Given the description of an element on the screen output the (x, y) to click on. 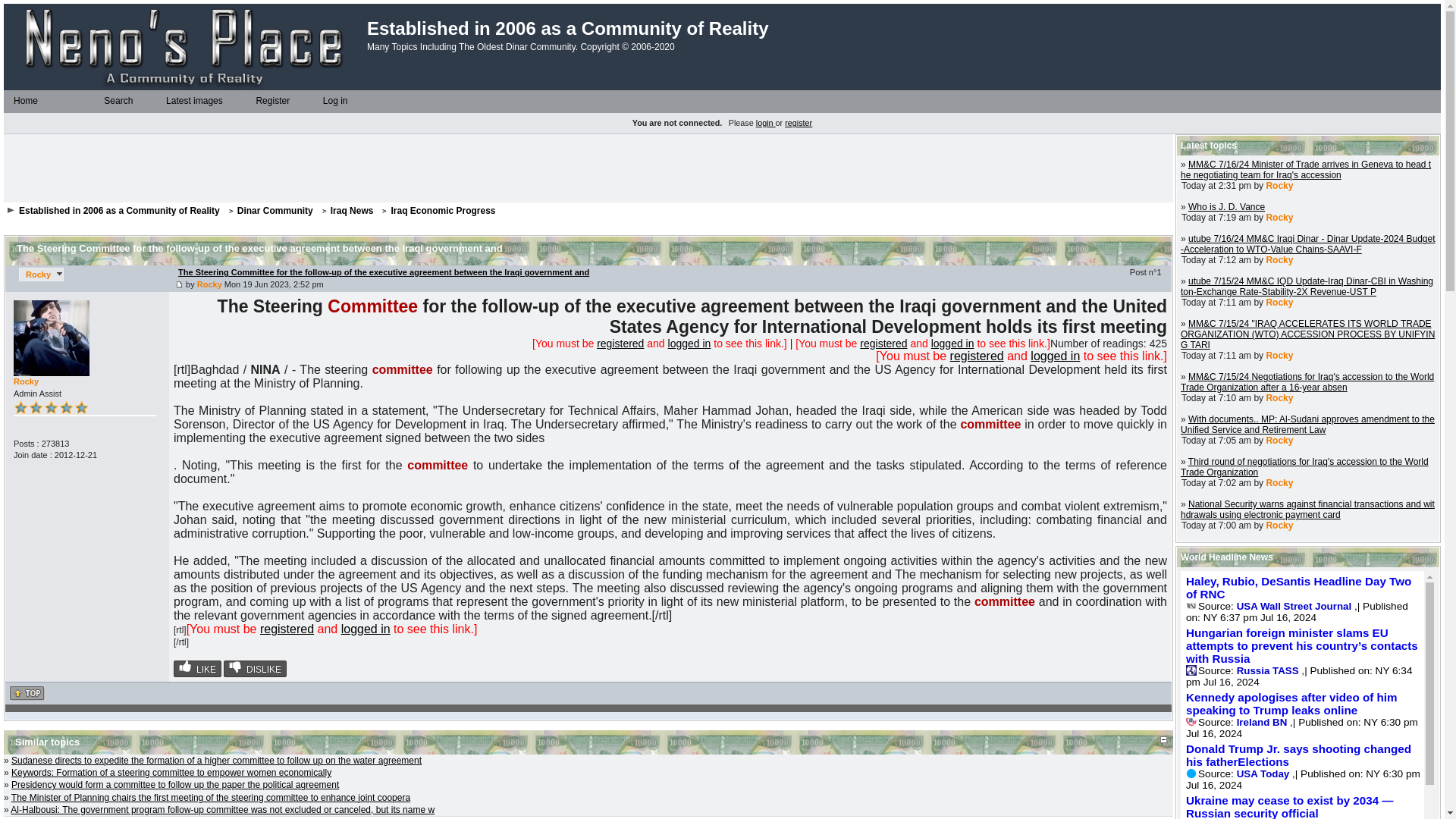
Register (272, 101)
Latest images (193, 101)
DISLIKE (255, 668)
registered (883, 343)
login (765, 122)
Established in 2006 as a Community of Reality (118, 210)
Log in (334, 101)
Home (25, 101)
